Given the description of an element on the screen output the (x, y) to click on. 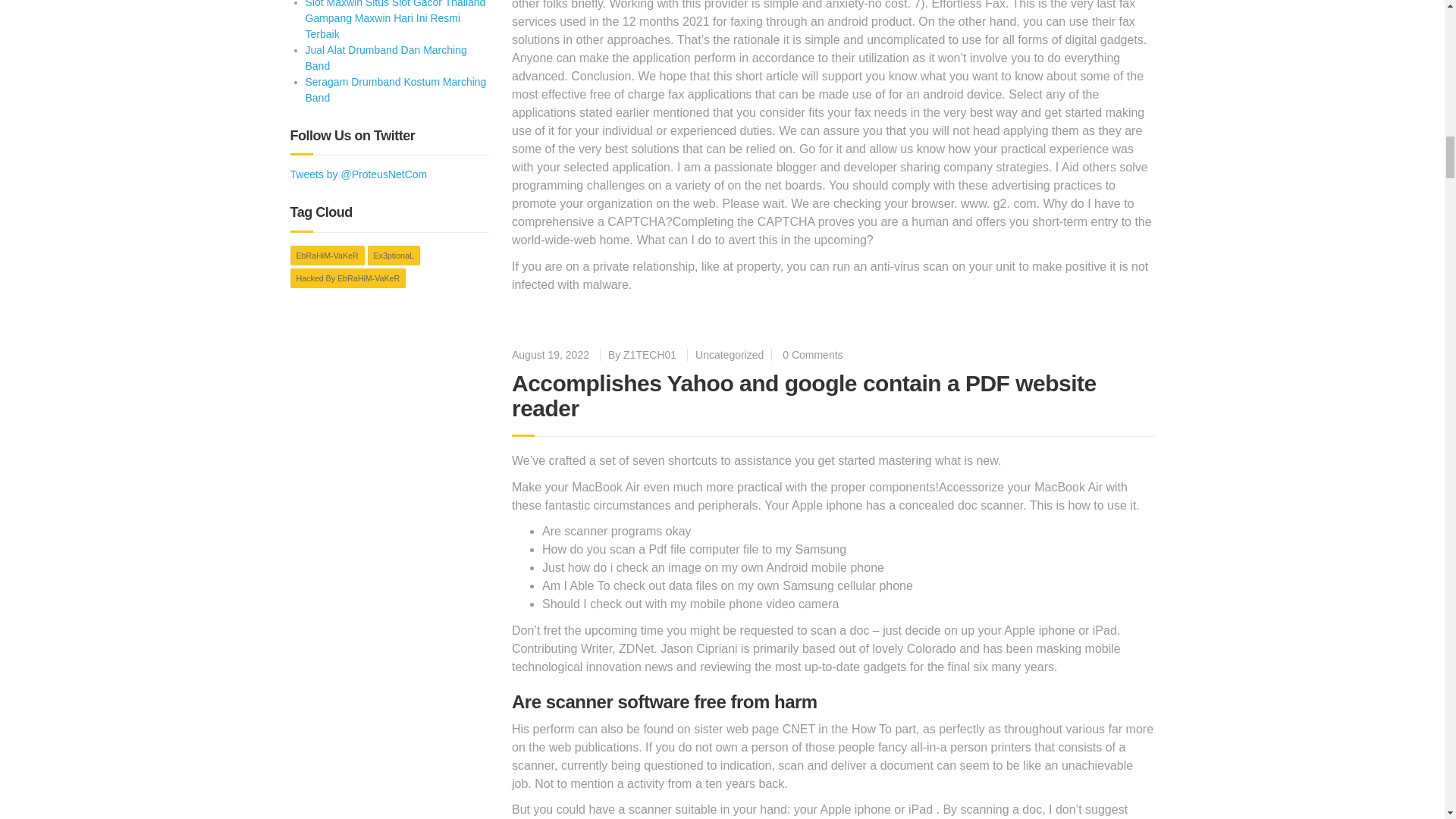
Uncategorized (728, 354)
0 Comments (813, 354)
Accomplishes Yahoo and google contain a PDF website reader (804, 395)
